Given the description of an element on the screen output the (x, y) to click on. 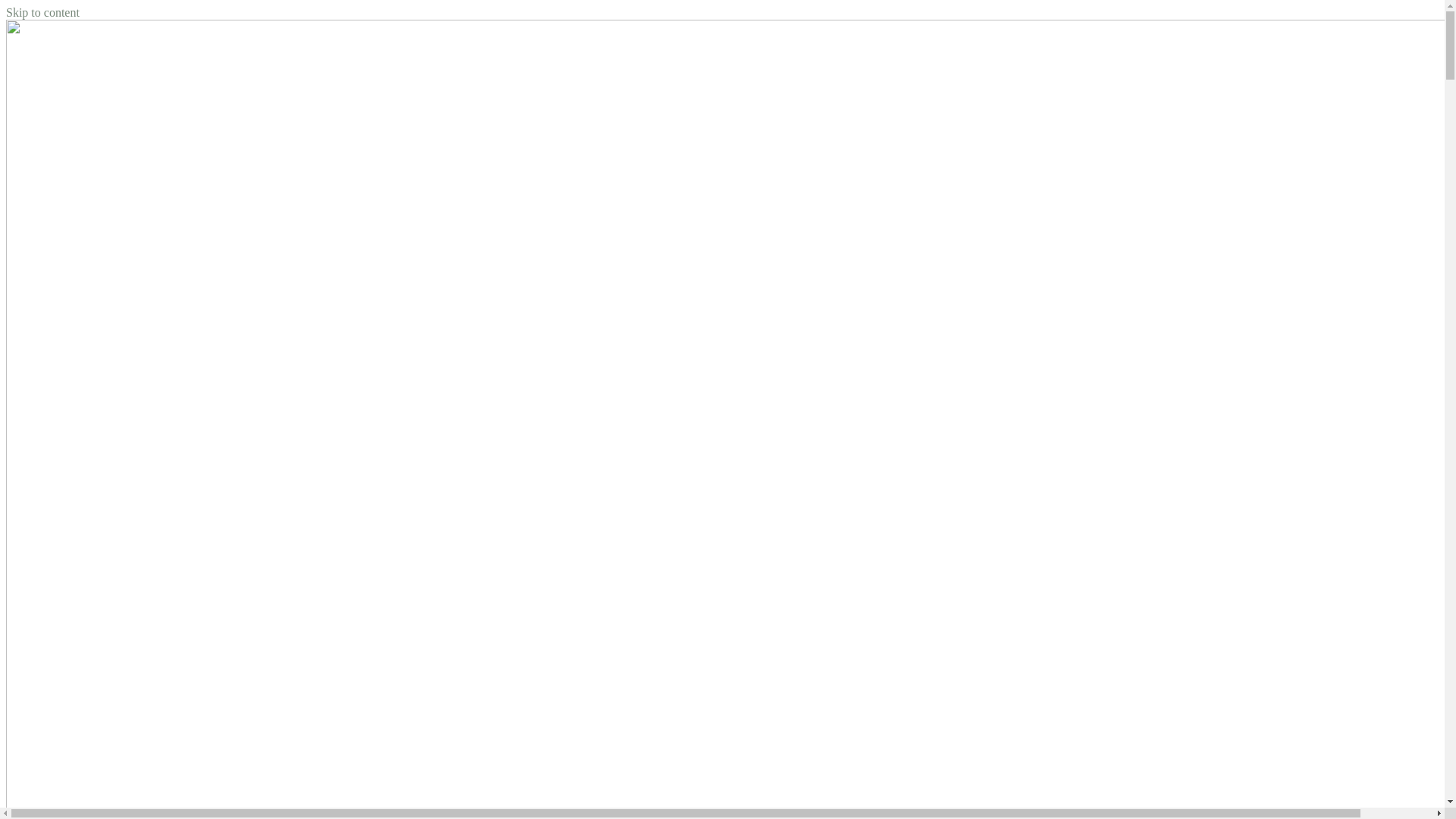
Skip to content Element type: text (42, 12)
